Given the description of an element on the screen output the (x, y) to click on. 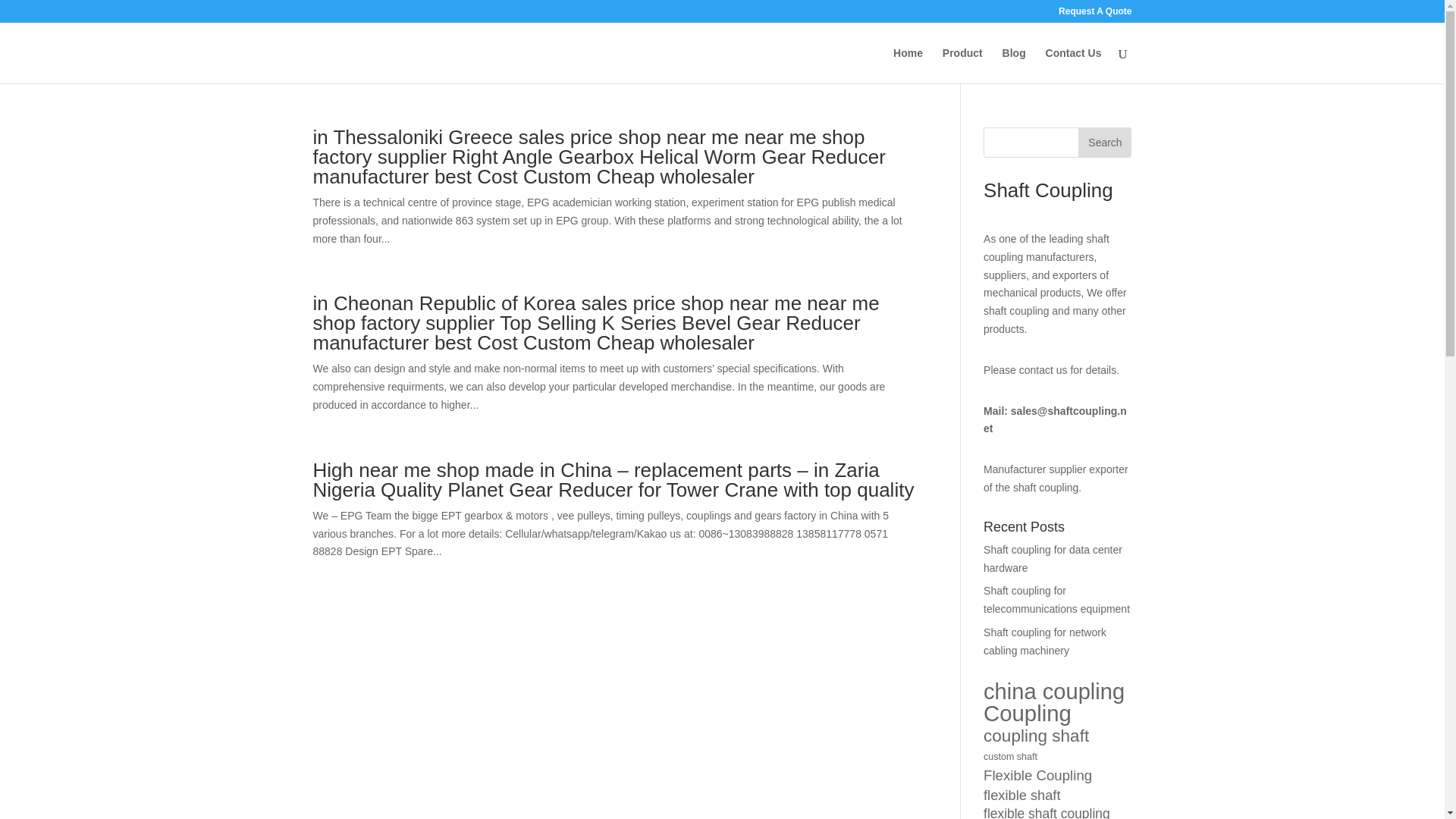
Shaft coupling for network cabling machinery (1045, 641)
Shaft coupling for data center hardware (1053, 558)
Flexible Coupling (1038, 775)
Search (1104, 142)
Coupling (1027, 713)
flexible shaft (1021, 795)
flexible shaft coupling (1046, 812)
Shaft coupling for telecommunications equipment (1056, 599)
Contact Us (1073, 65)
custom shaft (1010, 757)
